Given the description of an element on the screen output the (x, y) to click on. 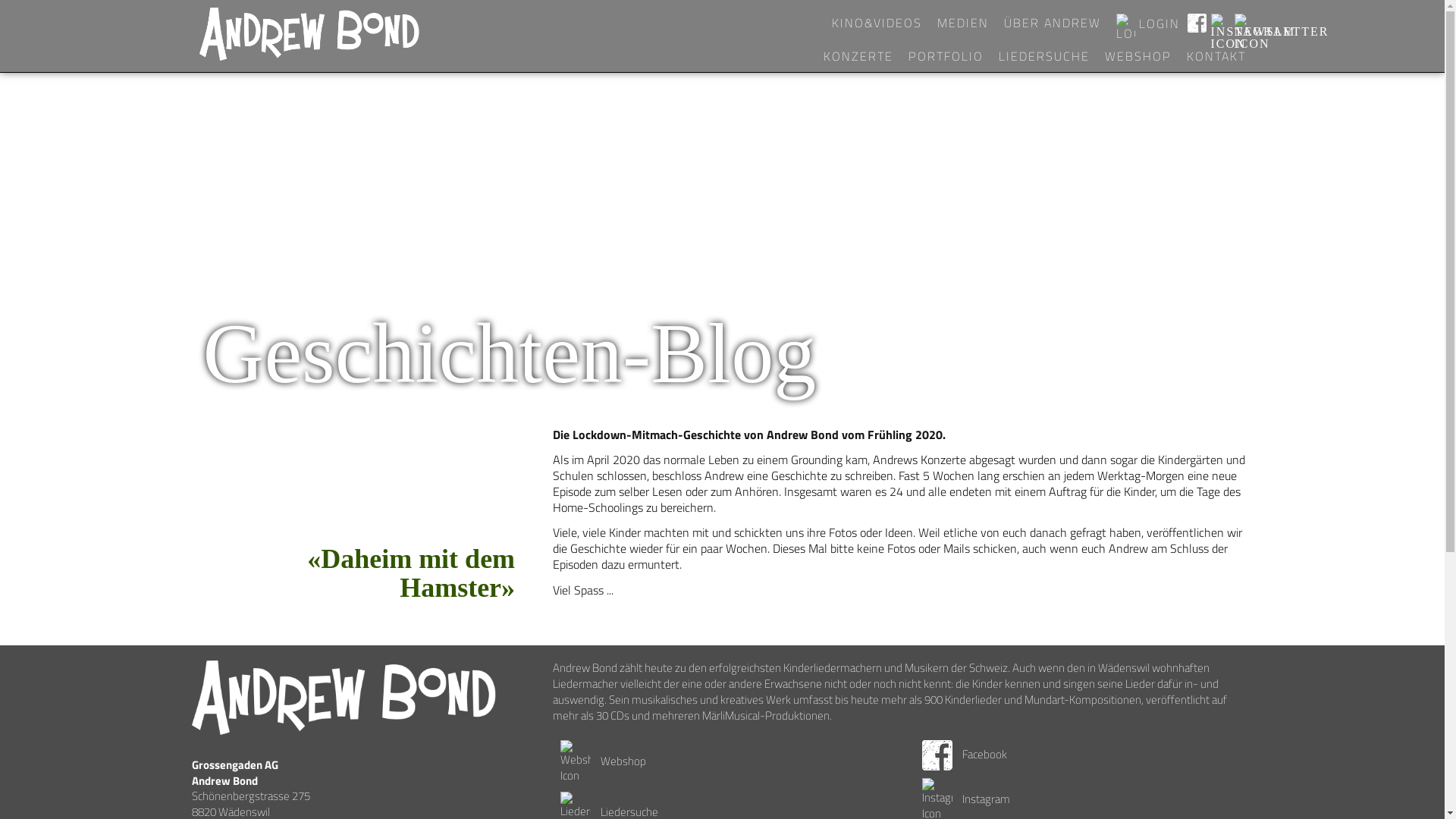
KONZERTE Element type: text (857, 56)
Andrew Bond Element type: hover (343, 697)
KONTAKT Element type: text (1215, 56)
Facebook Element type: text (964, 753)
PORTFOLIO Element type: text (945, 56)
MEDIEN Element type: text (962, 23)
Instagram Element type: text (966, 798)
LOGIN Element type: text (1147, 22)
KINO&VIDEOS Element type: text (875, 23)
LIEDERSUCHE Element type: text (1043, 56)
Webshop Element type: text (603, 760)
WEBSHOP Element type: text (1137, 56)
